Given the description of an element on the screen output the (x, y) to click on. 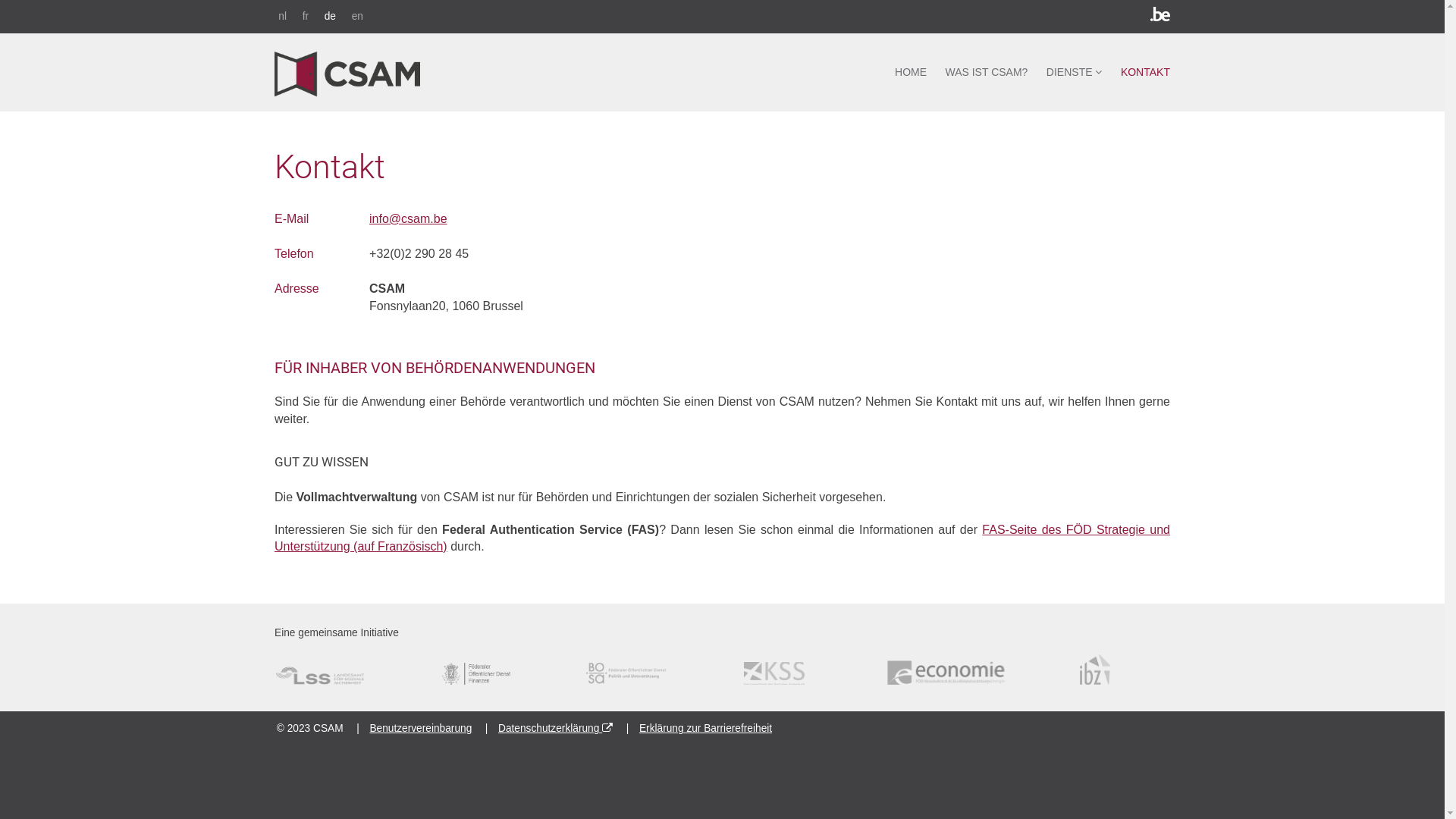
info@csam.be Element type: text (408, 218)
nl Element type: text (282, 16)
KONTAKT Element type: text (1145, 72)
WAS IST CSAM? Element type: text (985, 72)
en Element type: text (357, 16)
fr Element type: text (305, 16)
Benutzervereinbarung Element type: text (420, 728)
DIENSTE Element type: text (1074, 72)
de Element type: text (329, 16)
HOME Element type: text (910, 72)
